Given the description of an element on the screen output the (x, y) to click on. 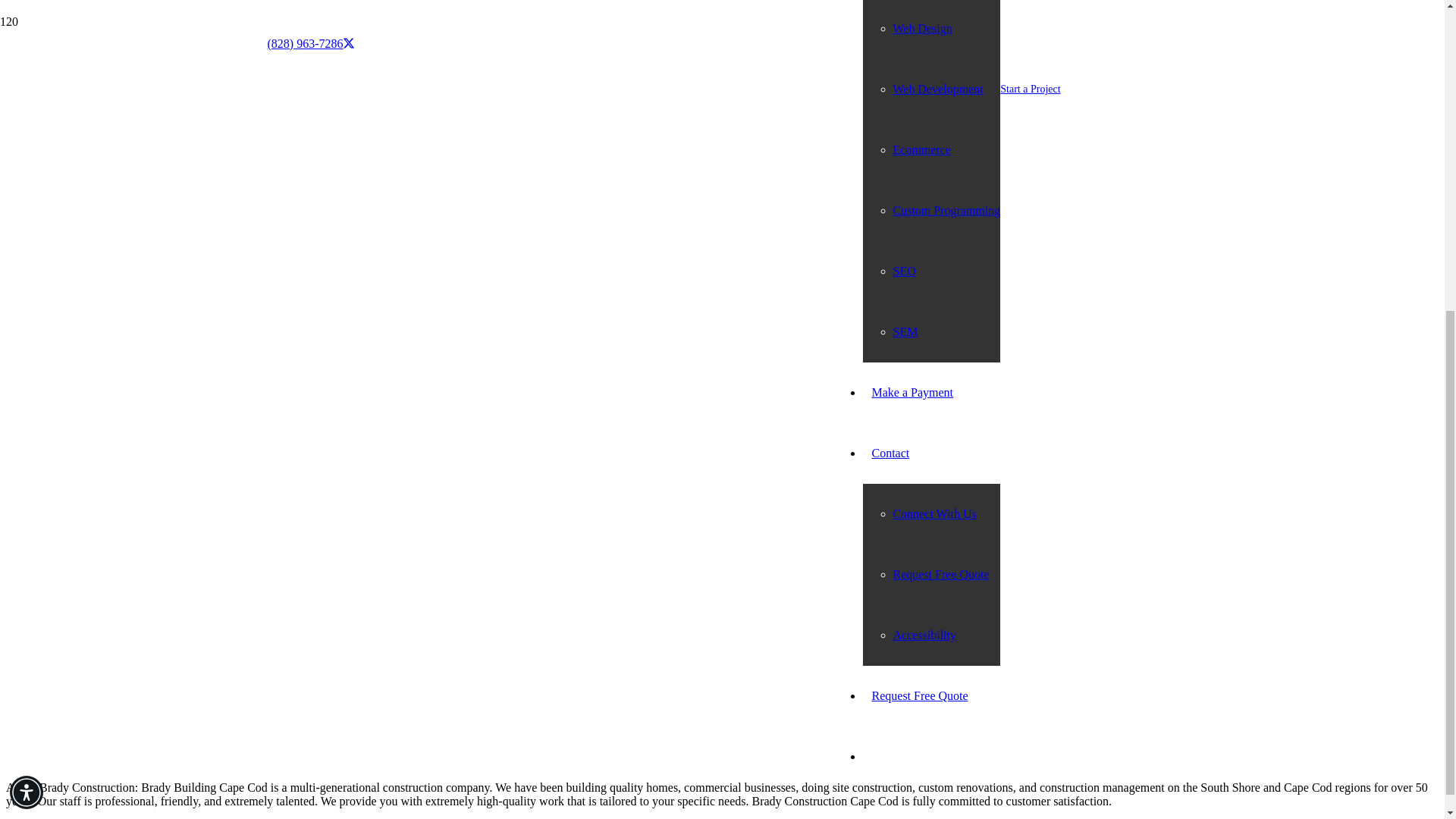
Request Free Quote (941, 66)
Accessibility Menu (26, 285)
Accessibility (924, 127)
Request Free Quote (919, 187)
Connect With Us (934, 6)
